Given the description of an element on the screen output the (x, y) to click on. 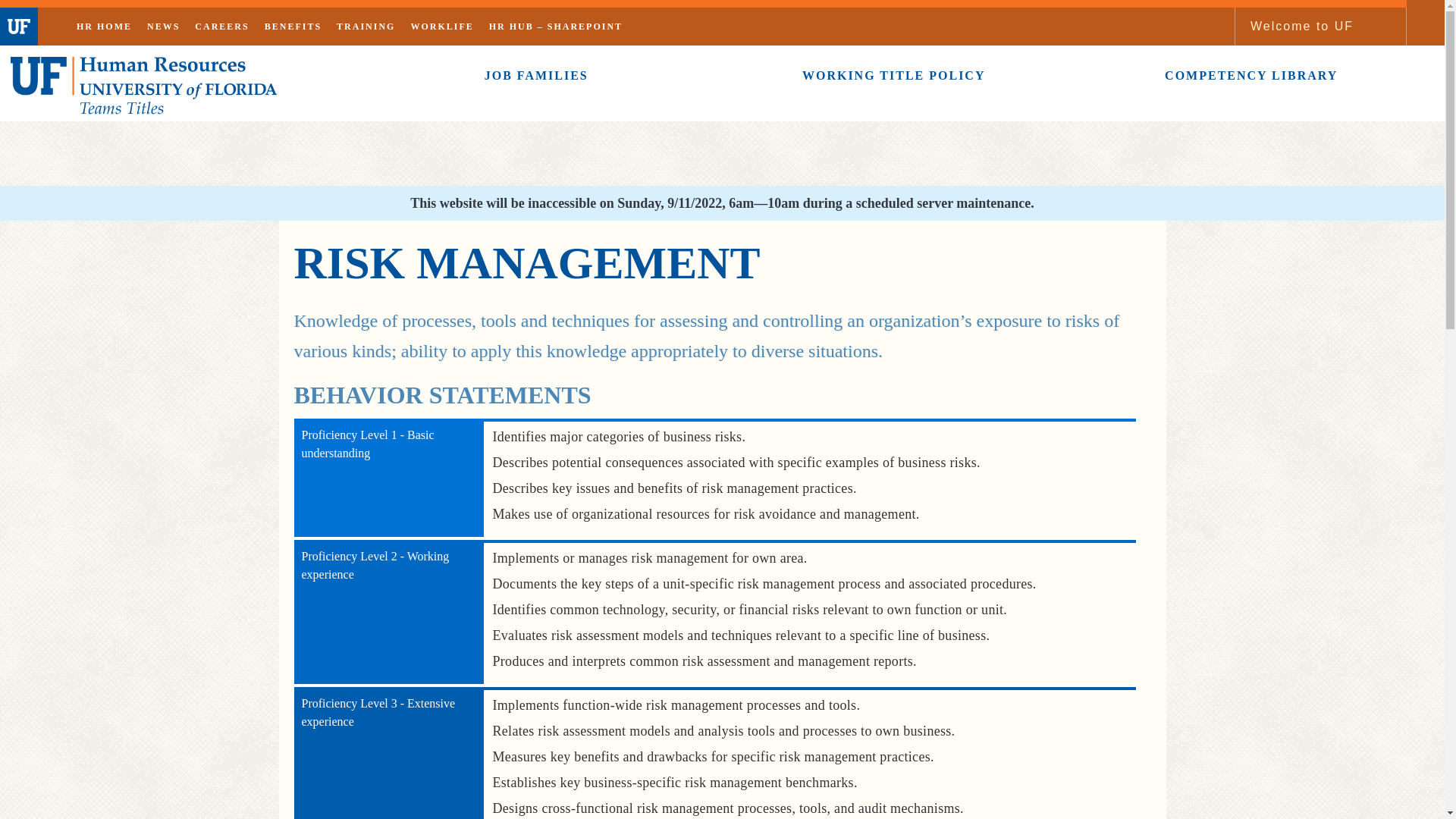
BENEFITS (293, 26)
CAREERS (221, 26)
TRAINING (366, 26)
NEWS (163, 26)
WORKLIFE (441, 26)
JOB FAMILIES (535, 75)
COMPETENCY LIBRARY (1250, 75)
WORKING TITLE POLICY (892, 75)
HR HOME (103, 26)
Welcome to UF (1301, 26)
